Given the description of an element on the screen output the (x, y) to click on. 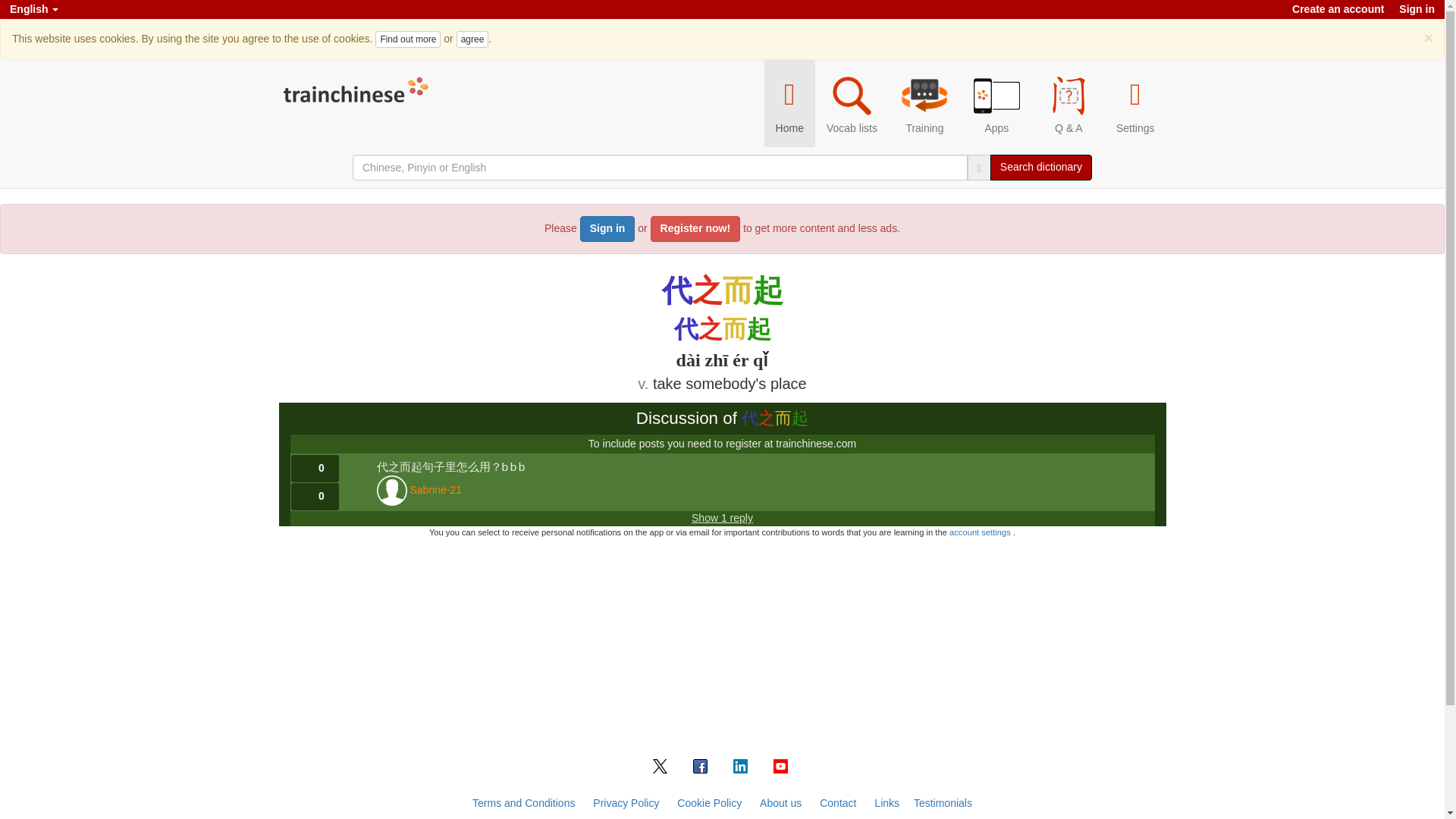
Search dictionary (1041, 167)
Bewerte dies hoch (315, 468)
Sign in (606, 228)
Home (789, 103)
Sign in (1417, 9)
account settings (981, 532)
Vocab lists (851, 103)
Author (435, 490)
Sign in (1417, 9)
Find out more (408, 39)
Register now! (695, 228)
Create an account (1337, 9)
English (34, 9)
Settings (1135, 103)
Training (924, 103)
